Given the description of an element on the screen output the (x, y) to click on. 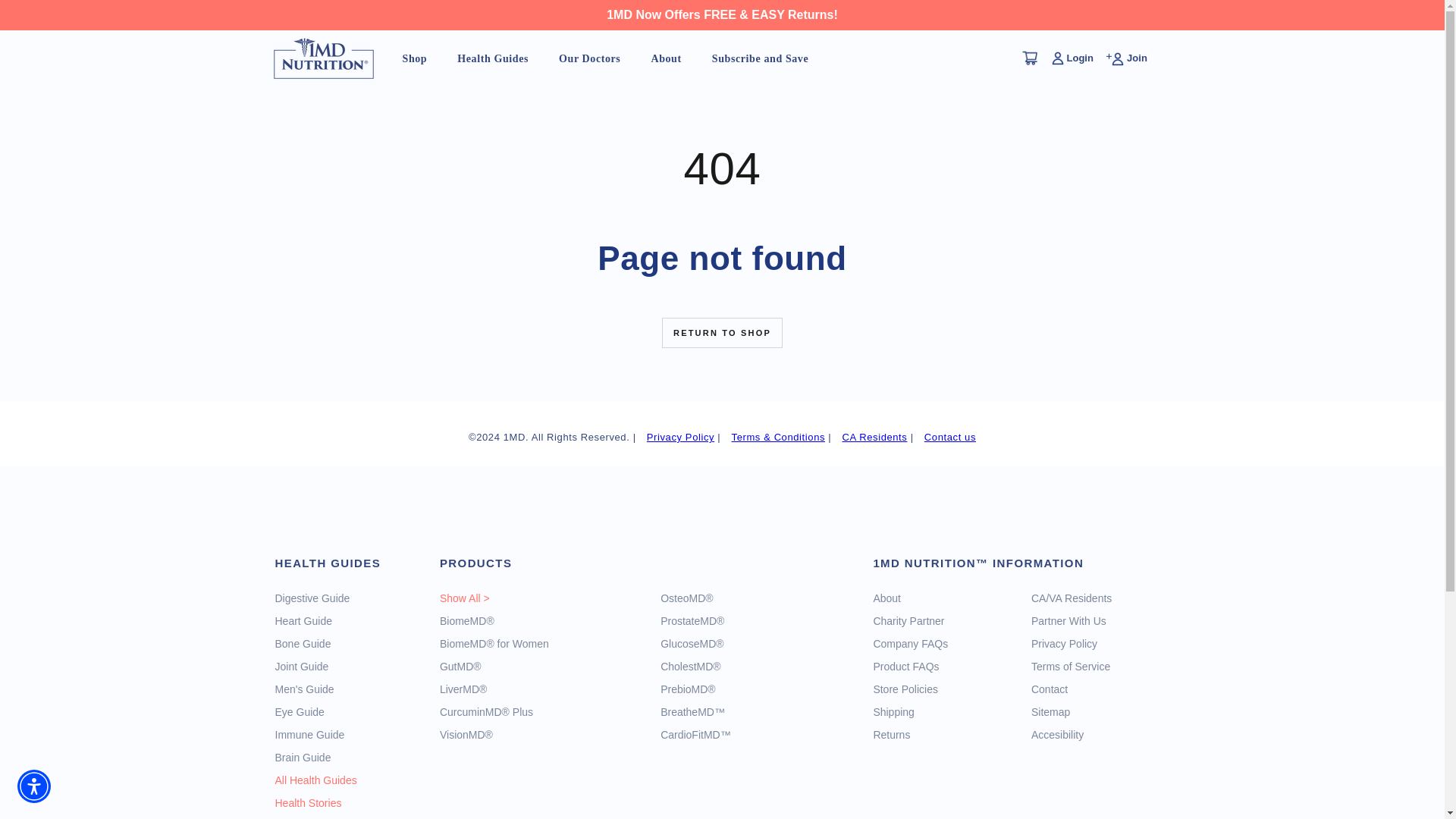
Accessibility Menu (33, 786)
SKIP TO CONTENT (67, 44)
